Given the description of an element on the screen output the (x, y) to click on. 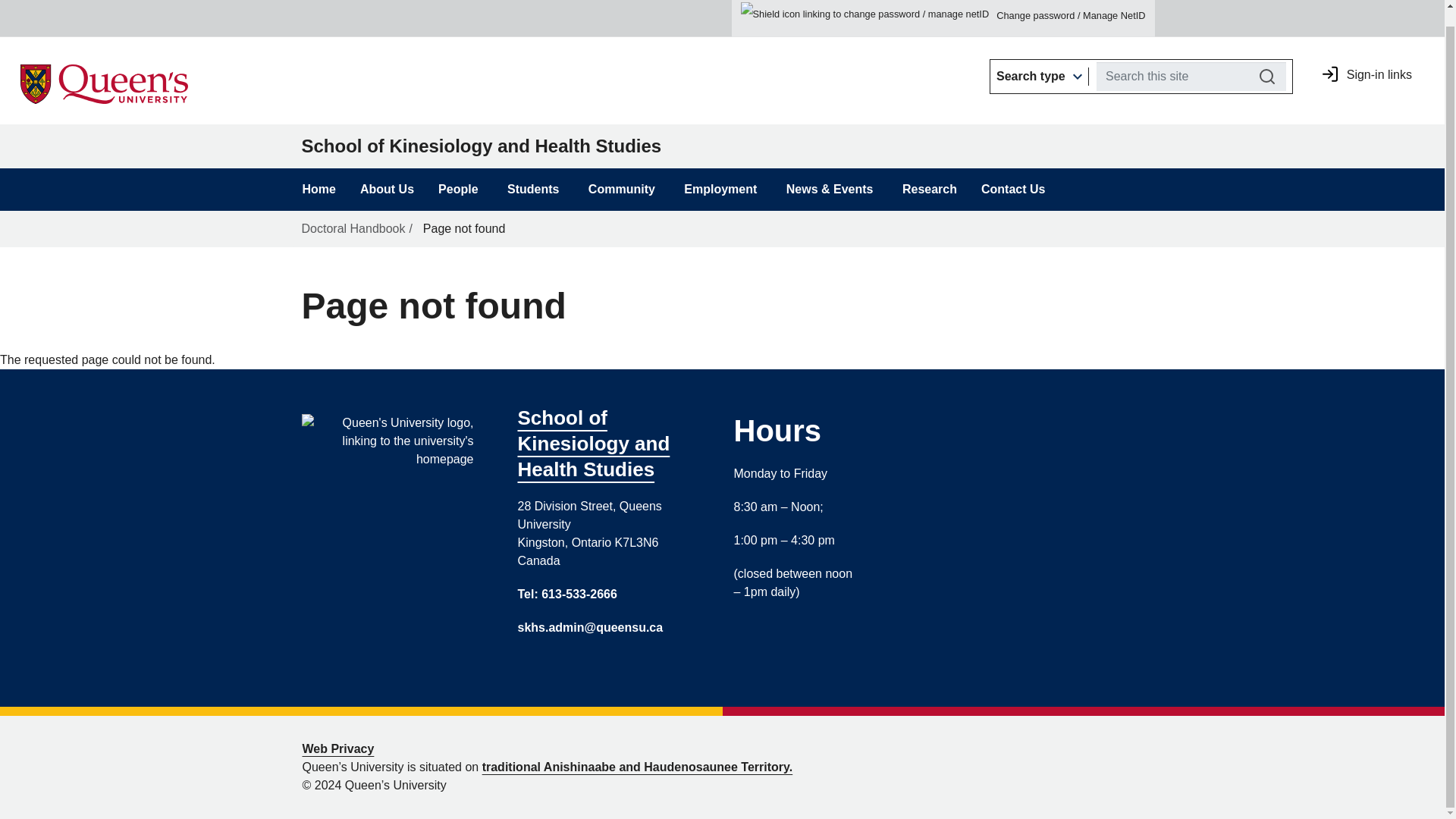
Home (287, 11)
Home (68, 16)
School of Kinesiology and Health Studies (287, 11)
